Given the description of an element on the screen output the (x, y) to click on. 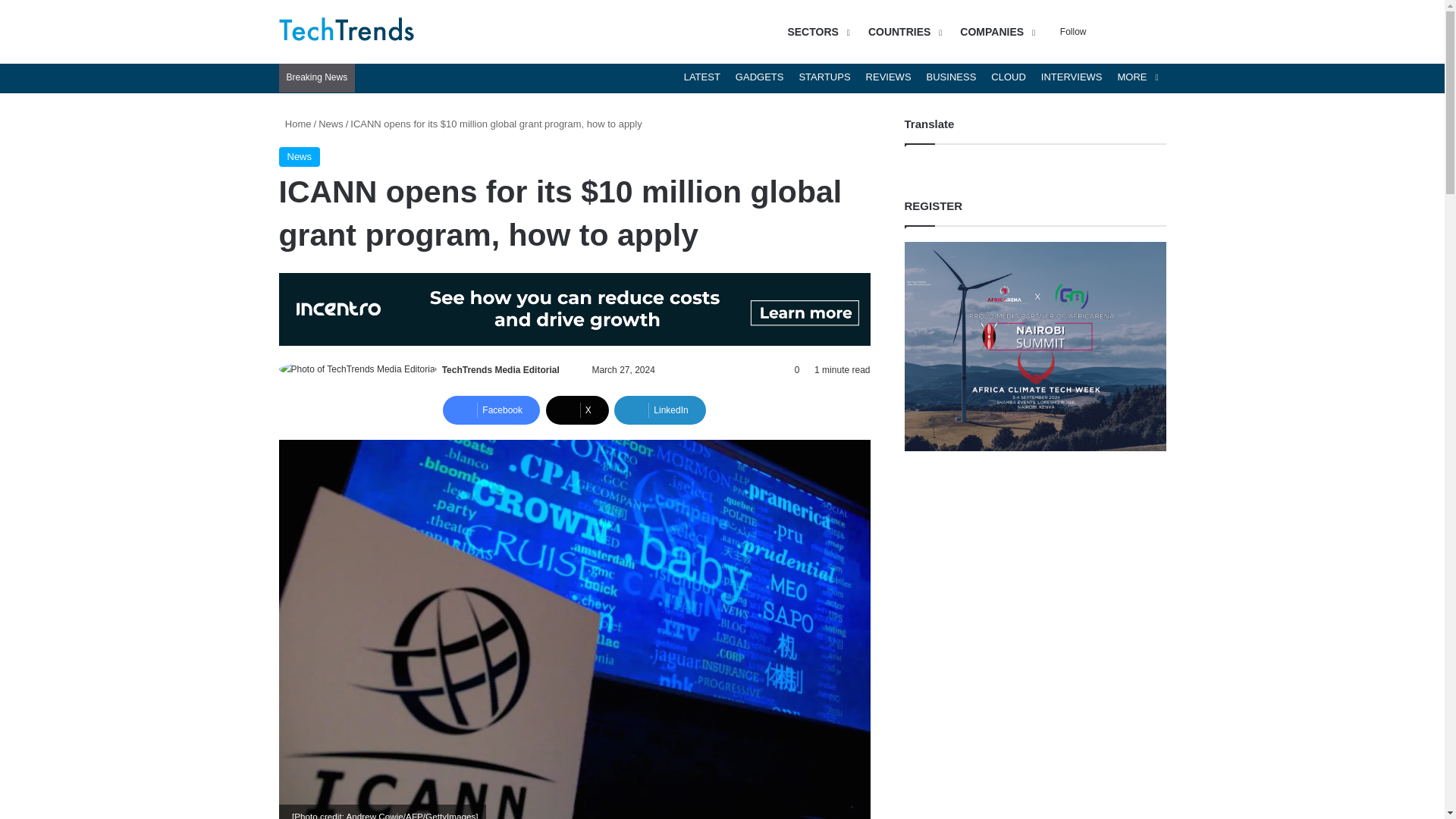
X (577, 410)
Facebook (491, 410)
TechTrendsKE (346, 31)
LinkedIn (659, 410)
SECTORS (816, 31)
COUNTRIES (903, 31)
TechTrends Media Editorial (500, 369)
COMPANIES (995, 31)
